Given the description of an element on the screen output the (x, y) to click on. 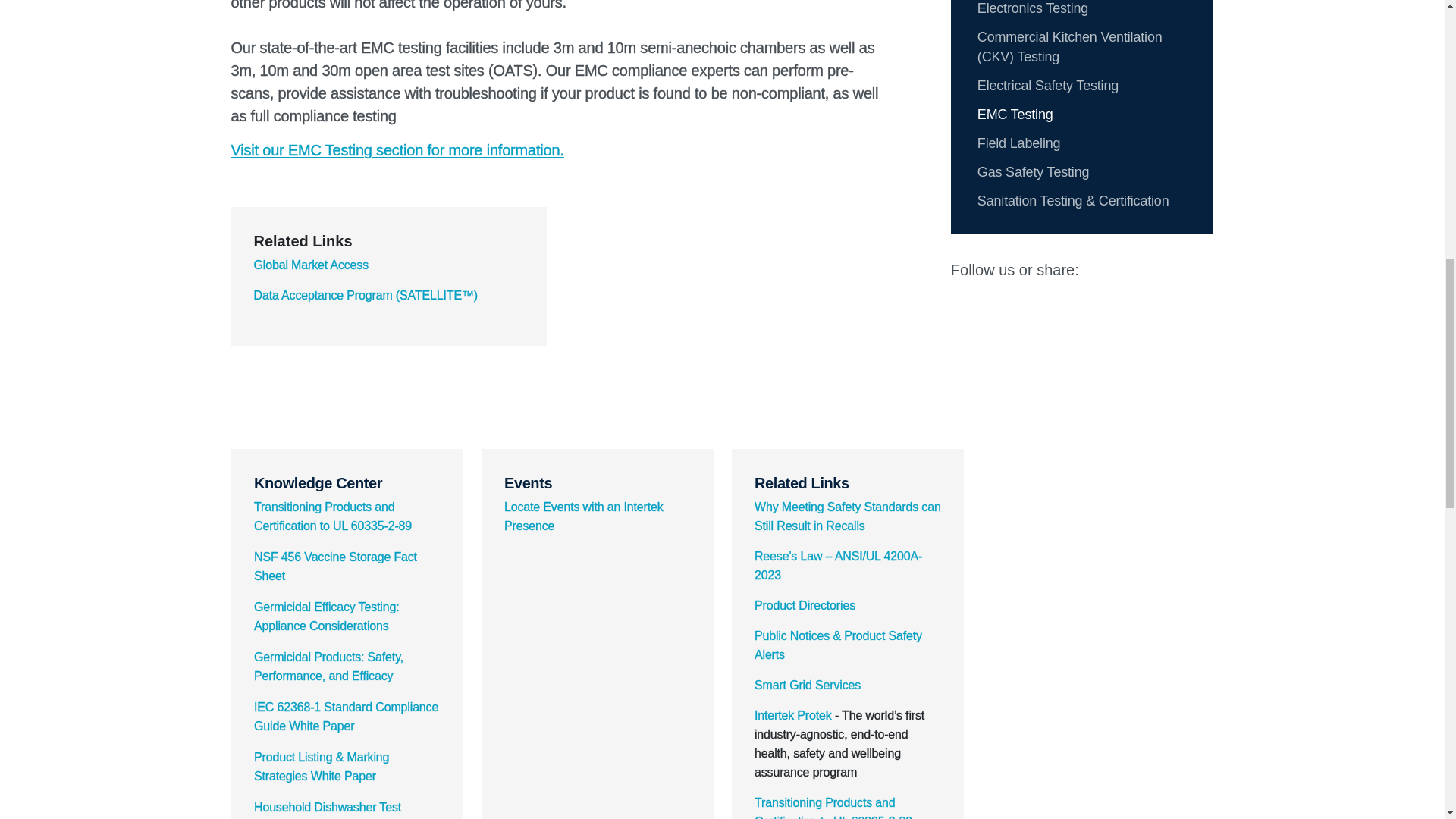
YouTube Logo Icon for YouTube (1195, 269)
Electrical Safety Testing (1047, 85)
Gas Safety Testing (1032, 171)
Appliances and Consumer Electronics Testing (1055, 7)
Facebook Logo Icon for Facebook (1164, 269)
EMC Testing (1014, 114)
Visit our EMC Testing section for more information. (396, 149)
Product Directories (804, 604)
LinkedIn Logo Icon for LinkedIn (1102, 269)
Field Labeling (1018, 142)
Smart Grid Services (807, 684)
